Given the description of an element on the screen output the (x, y) to click on. 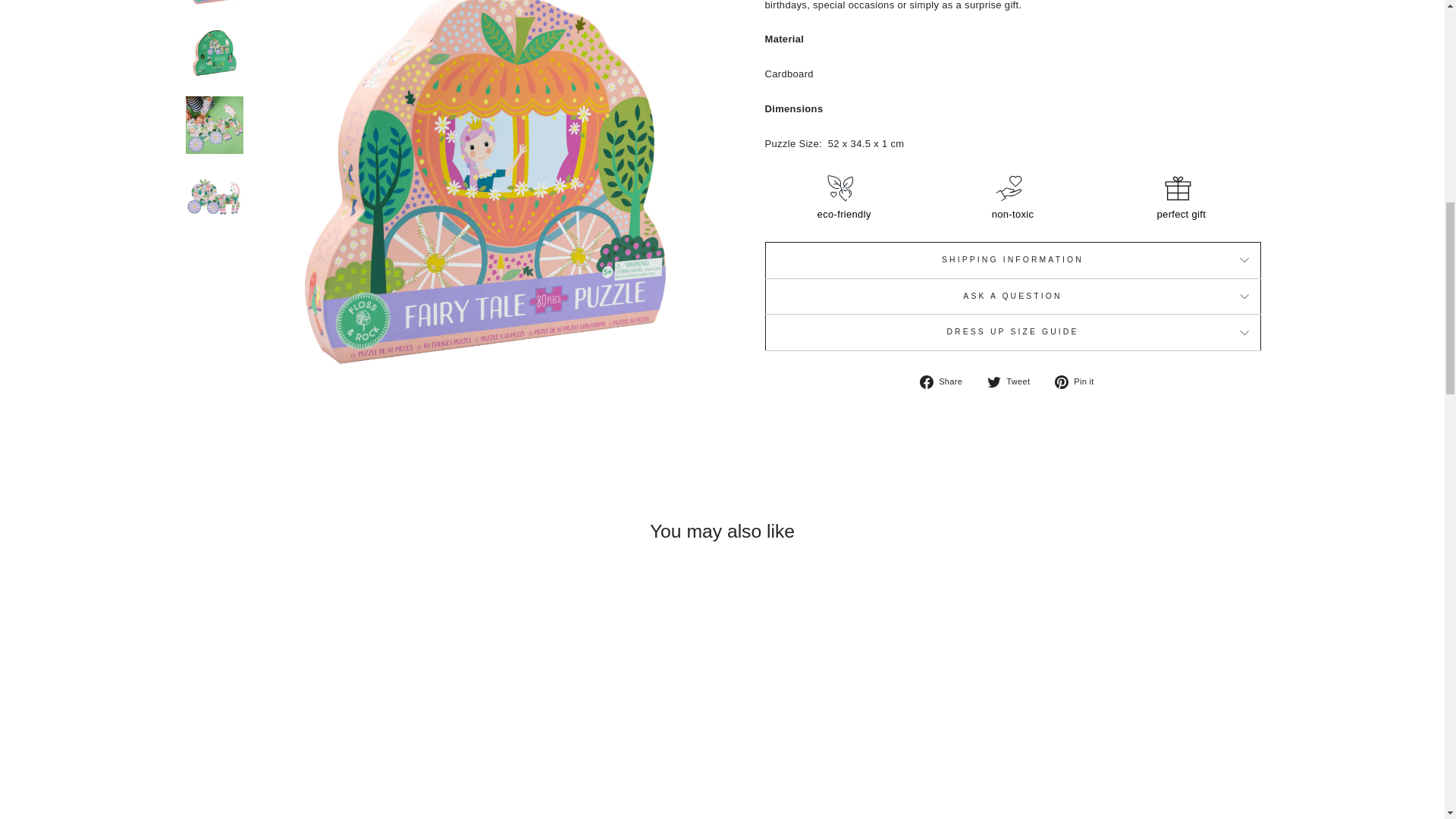
Pin on Pinterest (1079, 381)
Share on Facebook (947, 381)
Tweet on Twitter (1014, 381)
